Given the description of an element on the screen output the (x, y) to click on. 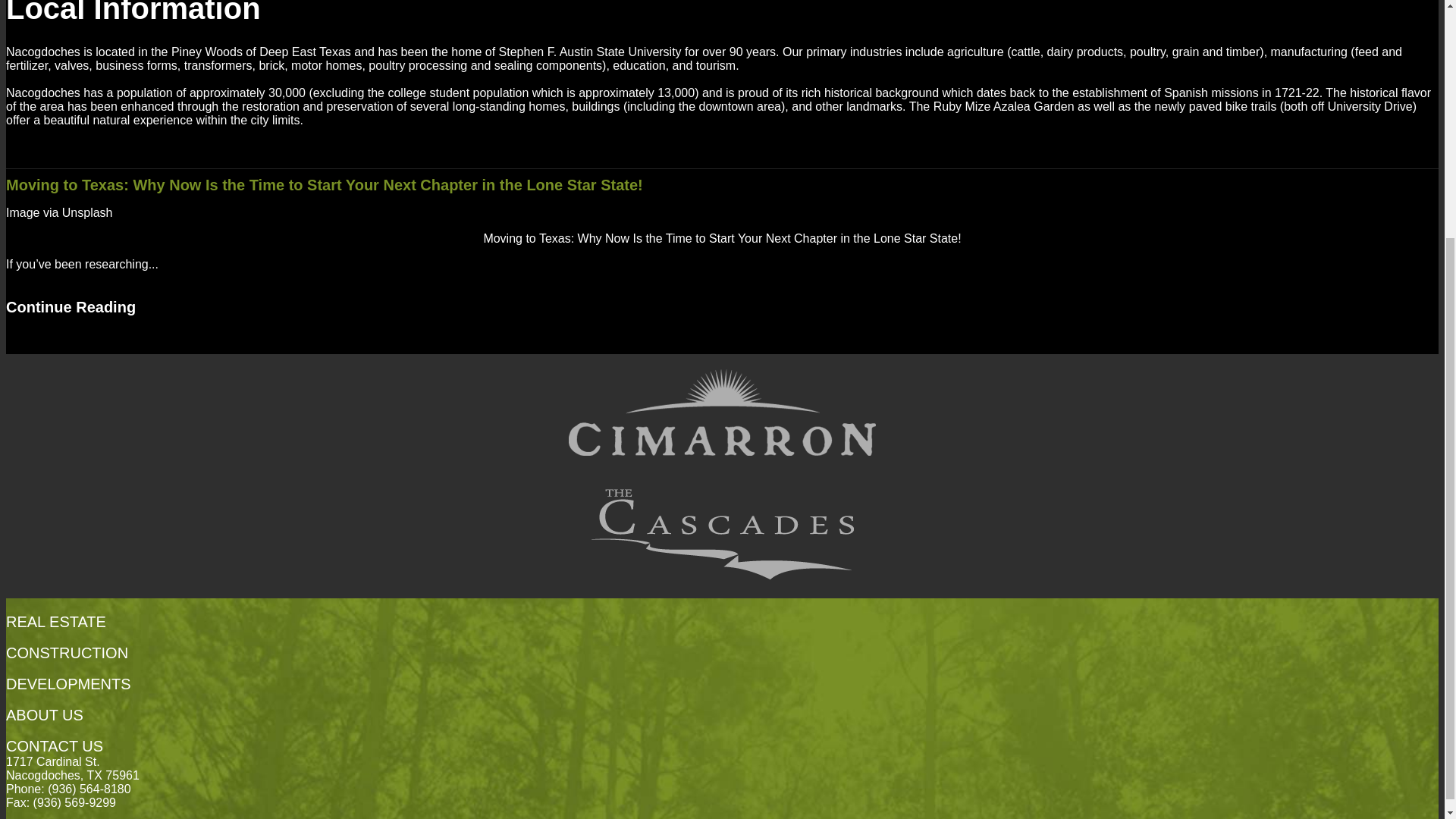
Continue Reading (70, 306)
CONTACT US (54, 745)
CONSTRUCTION (66, 652)
DEVELOPMENTS (68, 683)
ABOUT US (43, 714)
REAL ESTATE (55, 621)
